Given the description of an element on the screen output the (x, y) to click on. 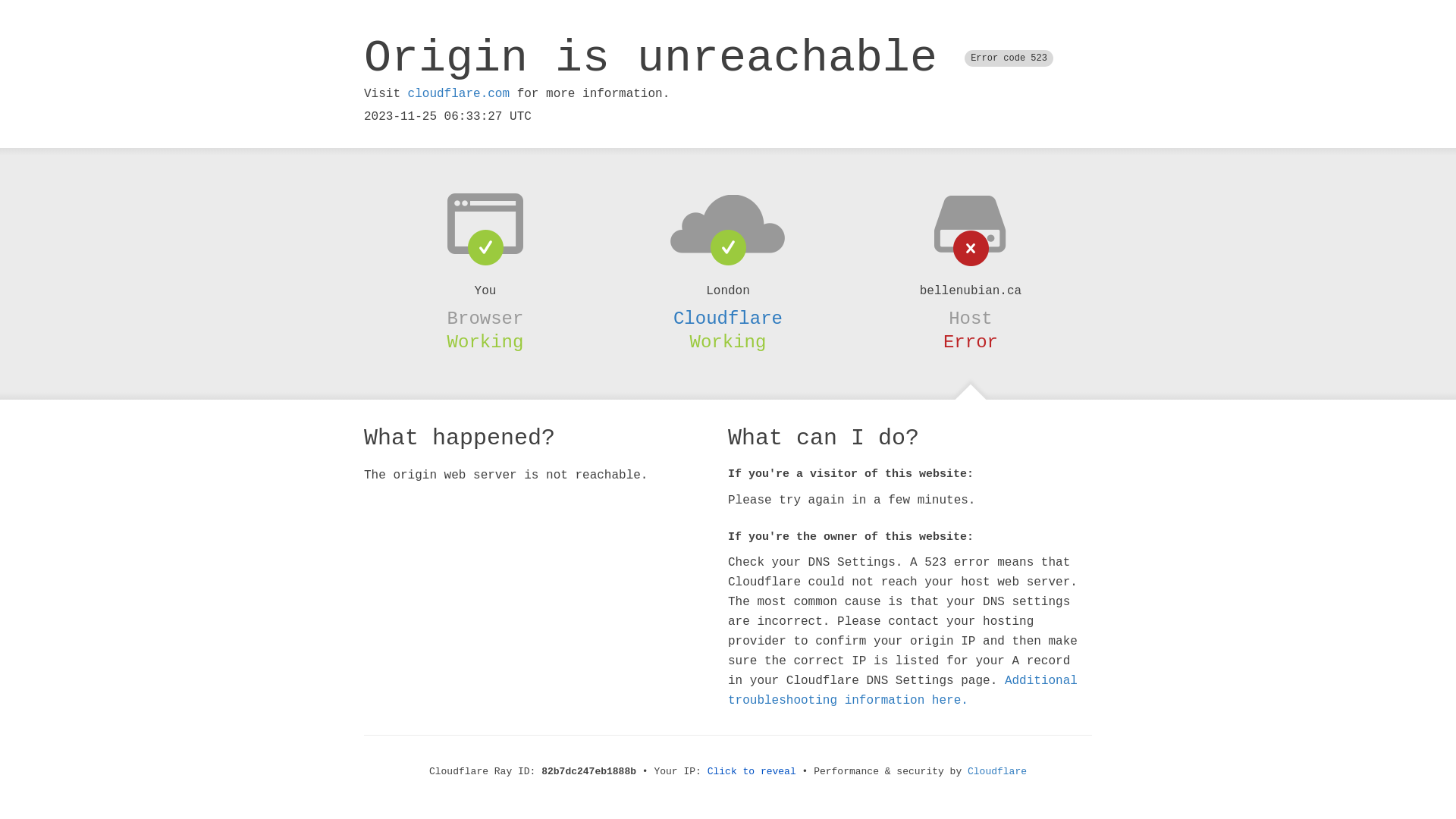
Click to reveal Element type: text (751, 771)
cloudflare.com Element type: text (458, 93)
Additional troubleshooting information here. Element type: text (902, 690)
Cloudflare Element type: text (727, 318)
Cloudflare Element type: text (996, 771)
